Given the description of an element on the screen output the (x, y) to click on. 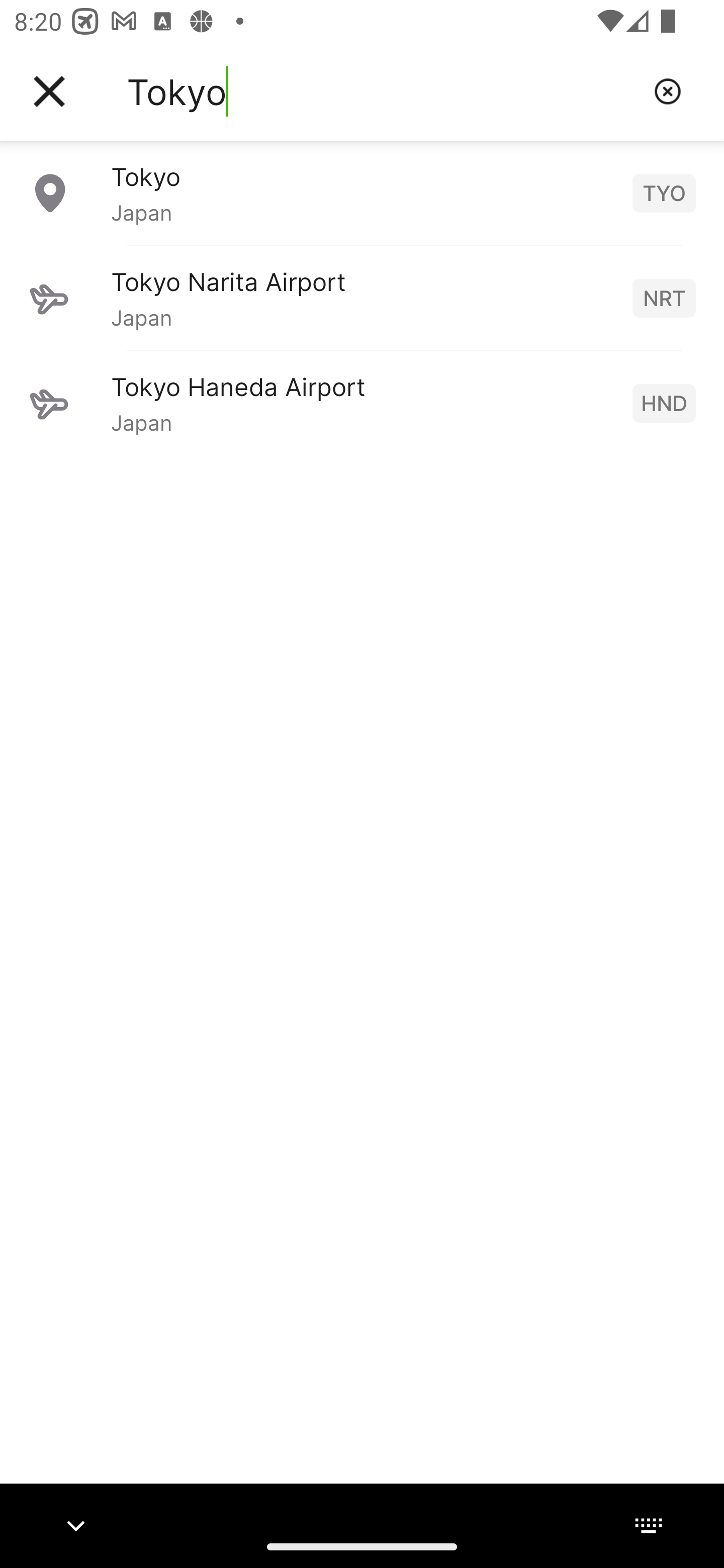
Tokyo (382, 91)
Tokyo Japan TYO (362, 192)
Tokyo Narita Airport Japan NRT (362, 297)
Tokyo Haneda Airport Japan HND (362, 402)
